Given the description of an element on the screen output the (x, y) to click on. 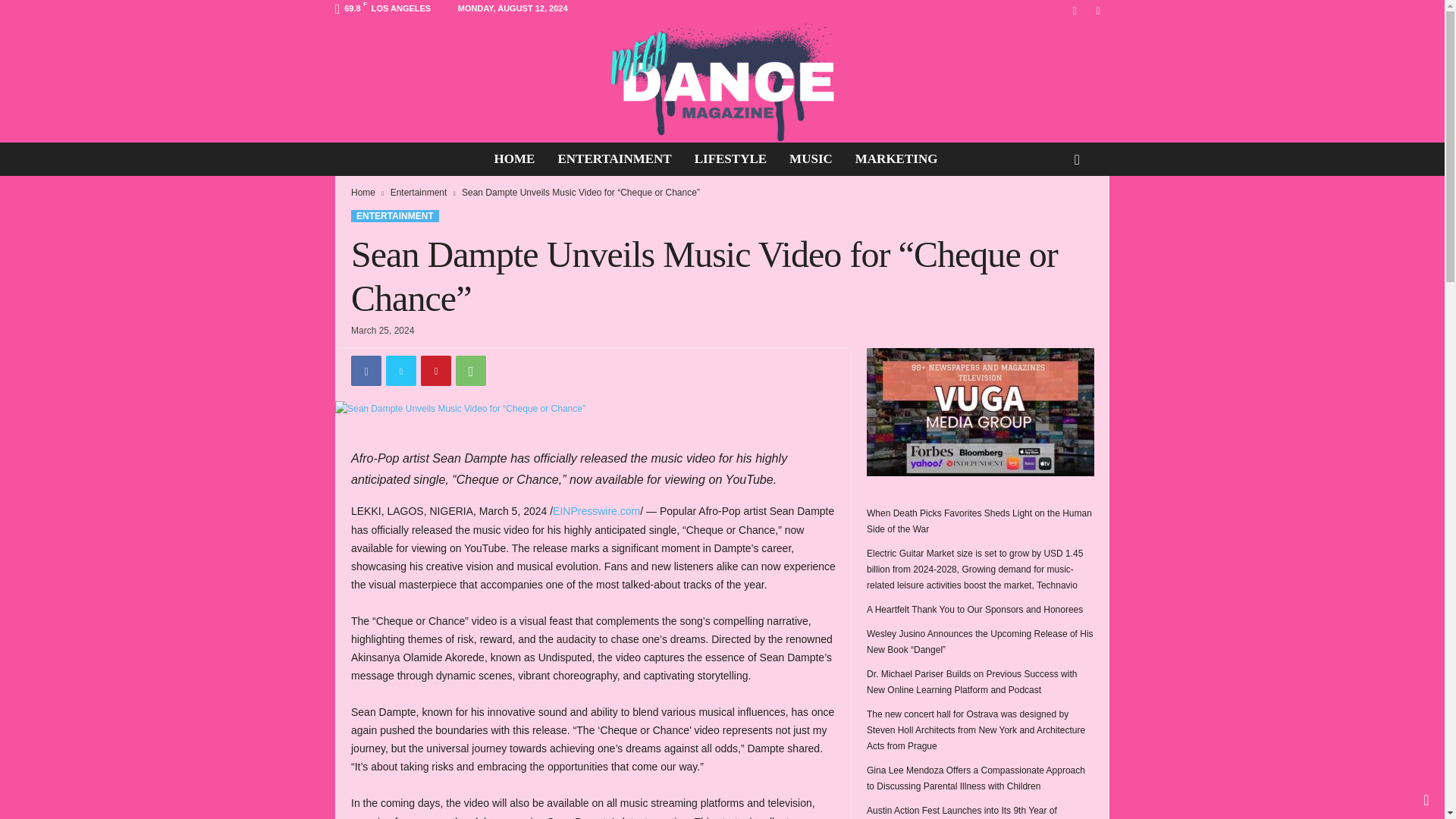
Home (362, 192)
ENTERTAINMENT (614, 159)
HOME (515, 159)
MUSIC (810, 159)
Mega Dance Magazine (721, 82)
Facebook (365, 370)
EINPresswire.com (596, 510)
WhatsApp (470, 370)
Entertainment (418, 192)
ENTERTAINMENT (394, 215)
